Given the description of an element on the screen output the (x, y) to click on. 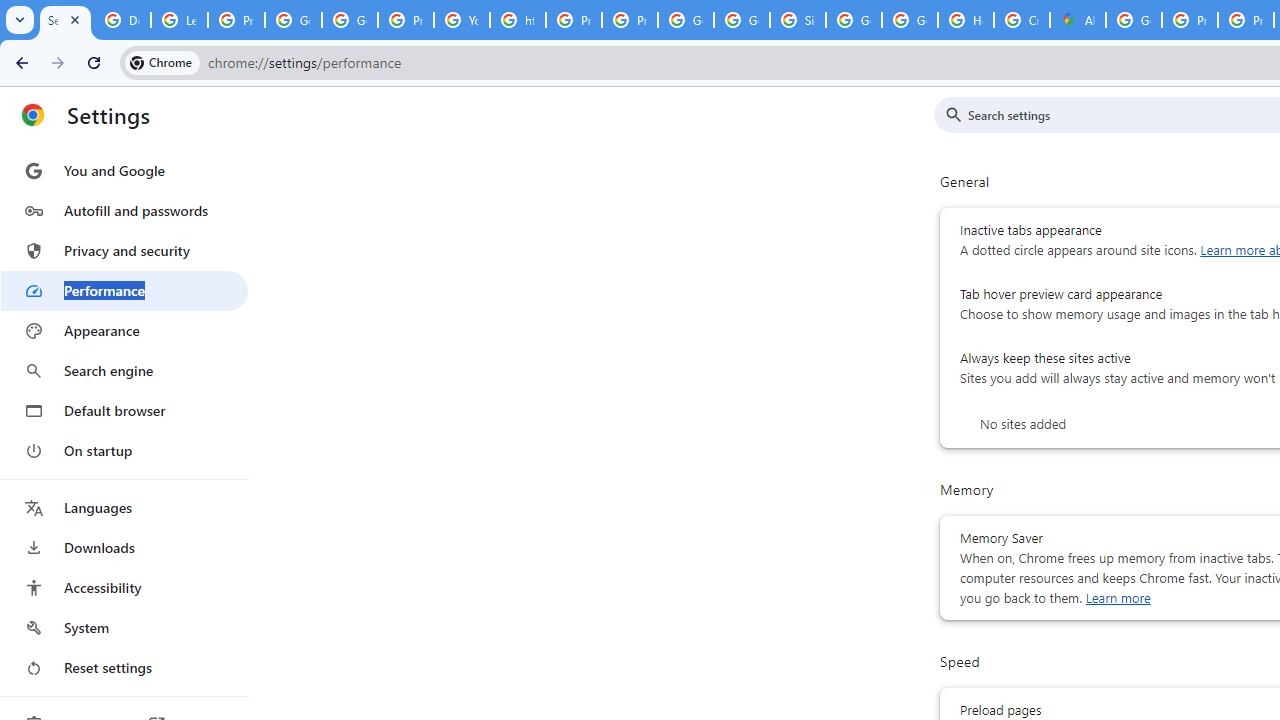
On startup (124, 450)
Delete photos & videos - Computer - Google Photos Help (122, 20)
Appearance (124, 331)
Accessibility (124, 587)
Google Account Help (293, 20)
Sign in - Google Accounts (797, 20)
